Given the description of an element on the screen output the (x, y) to click on. 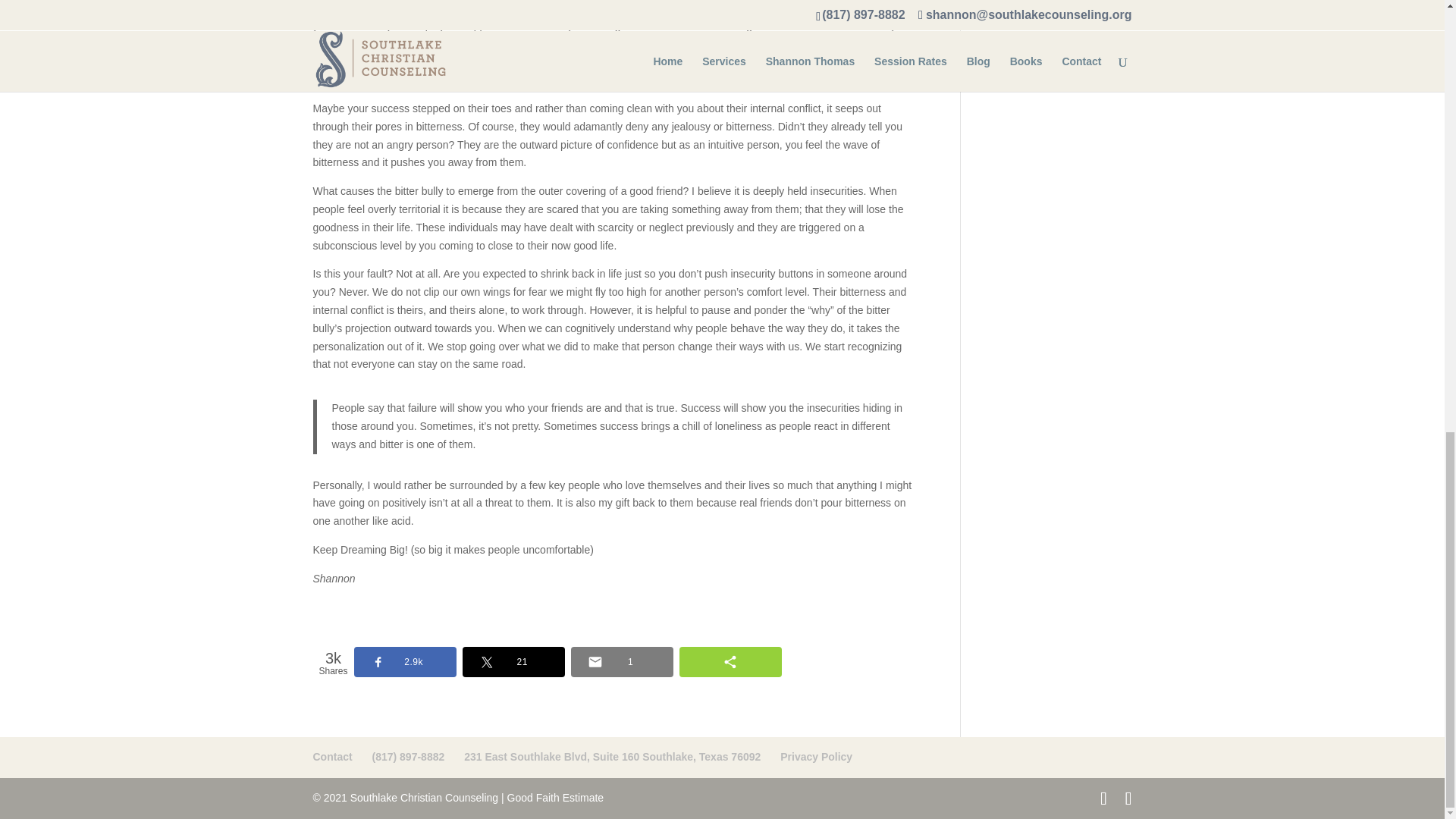
Contact (332, 756)
Good Faith Estimate (555, 797)
Privacy Policy (815, 756)
231 East Southlake Blvd, Suite 160 Southlake, Texas 76092 (612, 756)
